Given the description of an element on the screen output the (x, y) to click on. 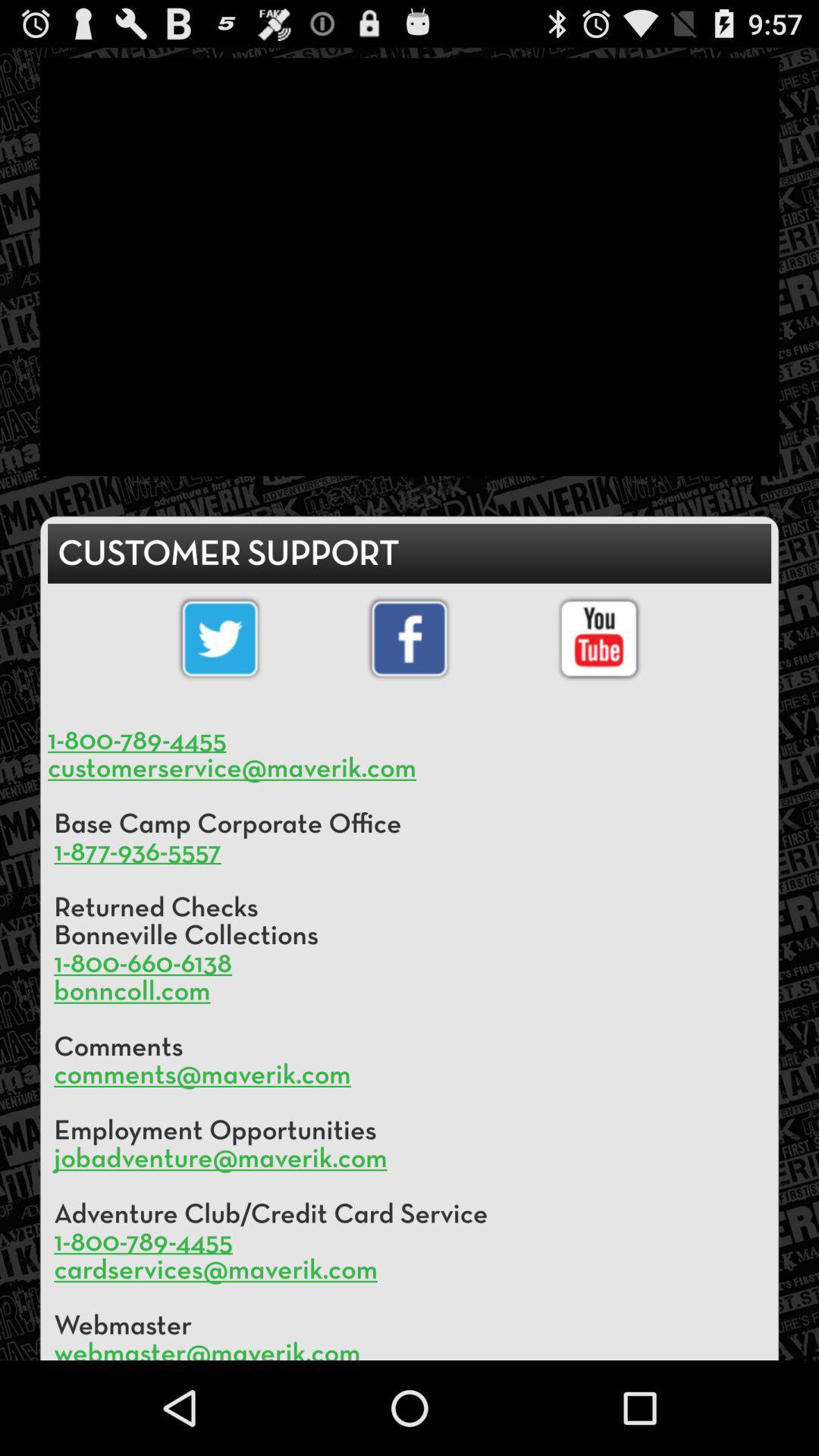
you tube selection option (598, 638)
